Given the description of an element on the screen output the (x, y) to click on. 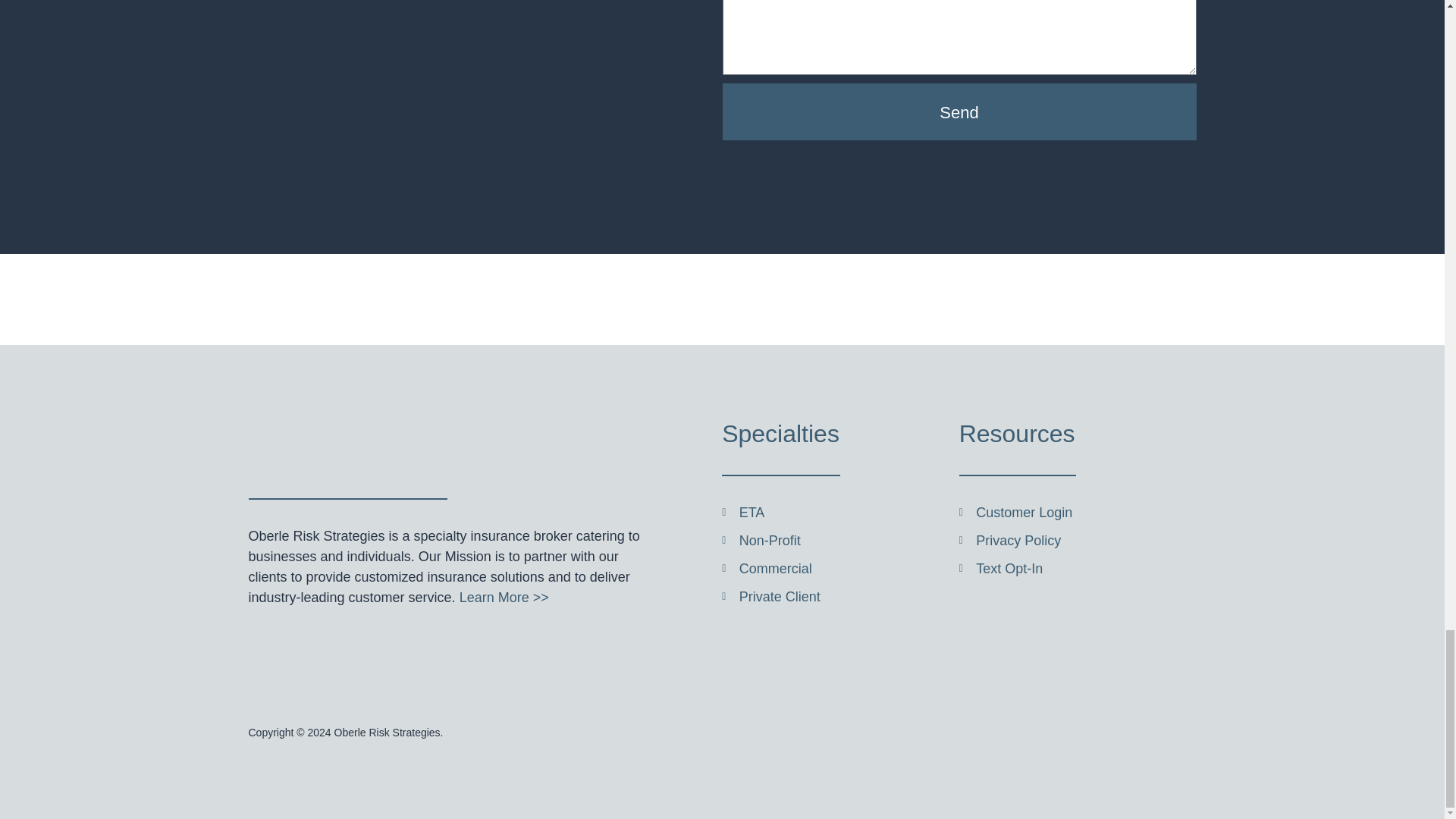
Text Opt-In (1075, 568)
Send (958, 111)
Commercial (840, 568)
Non-Profit (840, 540)
Private Client (840, 597)
8820 Ladue Road, Suite 302 St. Louis, MO 63124 (466, 4)
ETA (840, 512)
Privacy Policy (1075, 540)
Customer Login (1075, 512)
